Given the description of an element on the screen output the (x, y) to click on. 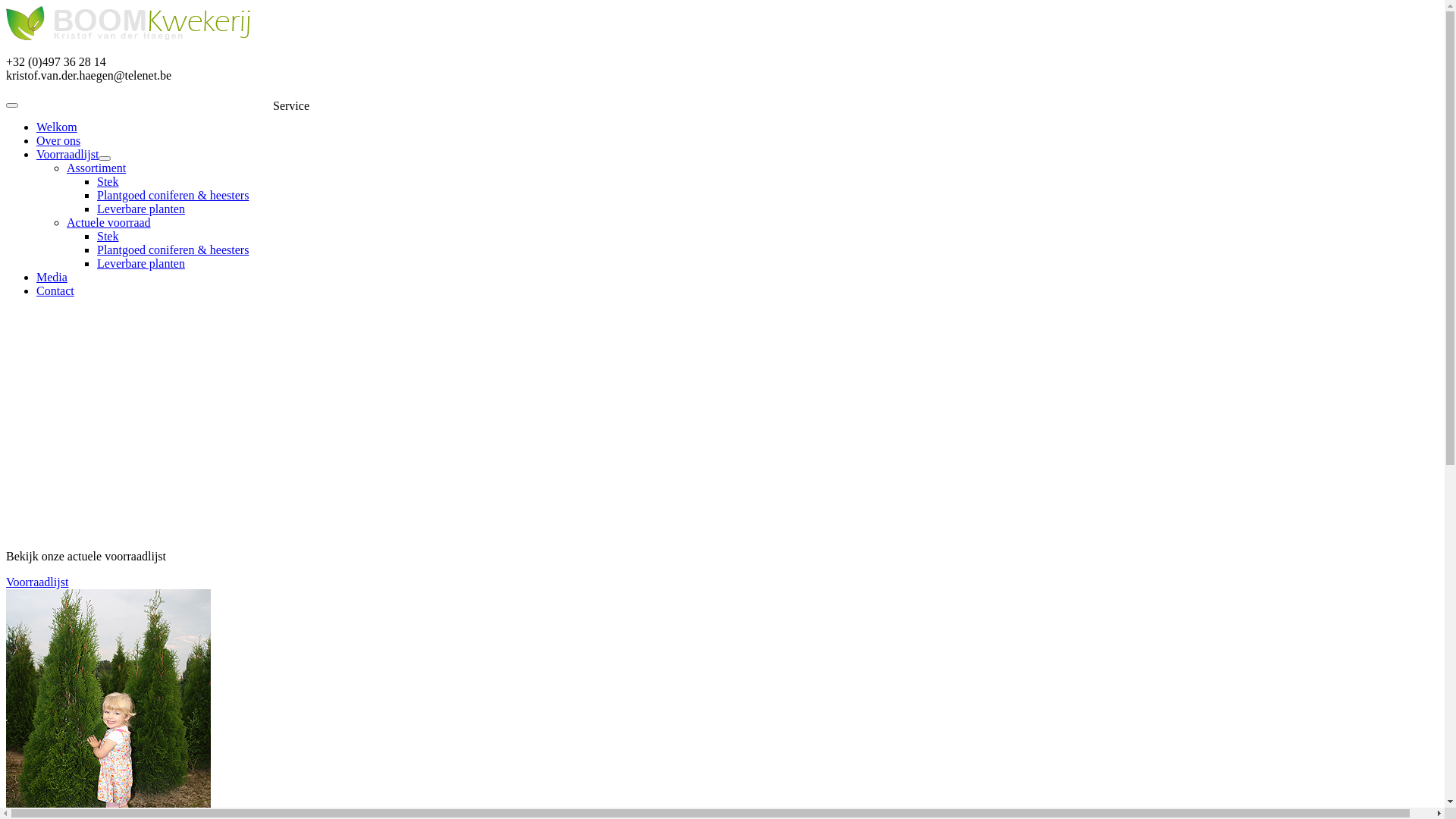
Leverbare planten Element type: text (141, 263)
Leverbare planten Element type: text (141, 208)
Assortiment Element type: text (95, 167)
Plantgoed coniferen & heesters Element type: text (172, 194)
Voorraadlijst Element type: text (73, 153)
Plantgoed coniferen & heesters Element type: text (172, 249)
Media Element type: text (51, 276)
Over ons Element type: text (58, 140)
Stek Element type: text (107, 181)
Actuele voorraad Element type: text (108, 222)
Welkom Element type: text (56, 126)
Contact Element type: text (55, 290)
Voorraadlijst Element type: text (722, 582)
Stek Element type: text (107, 235)
